Given the description of an element on the screen output the (x, y) to click on. 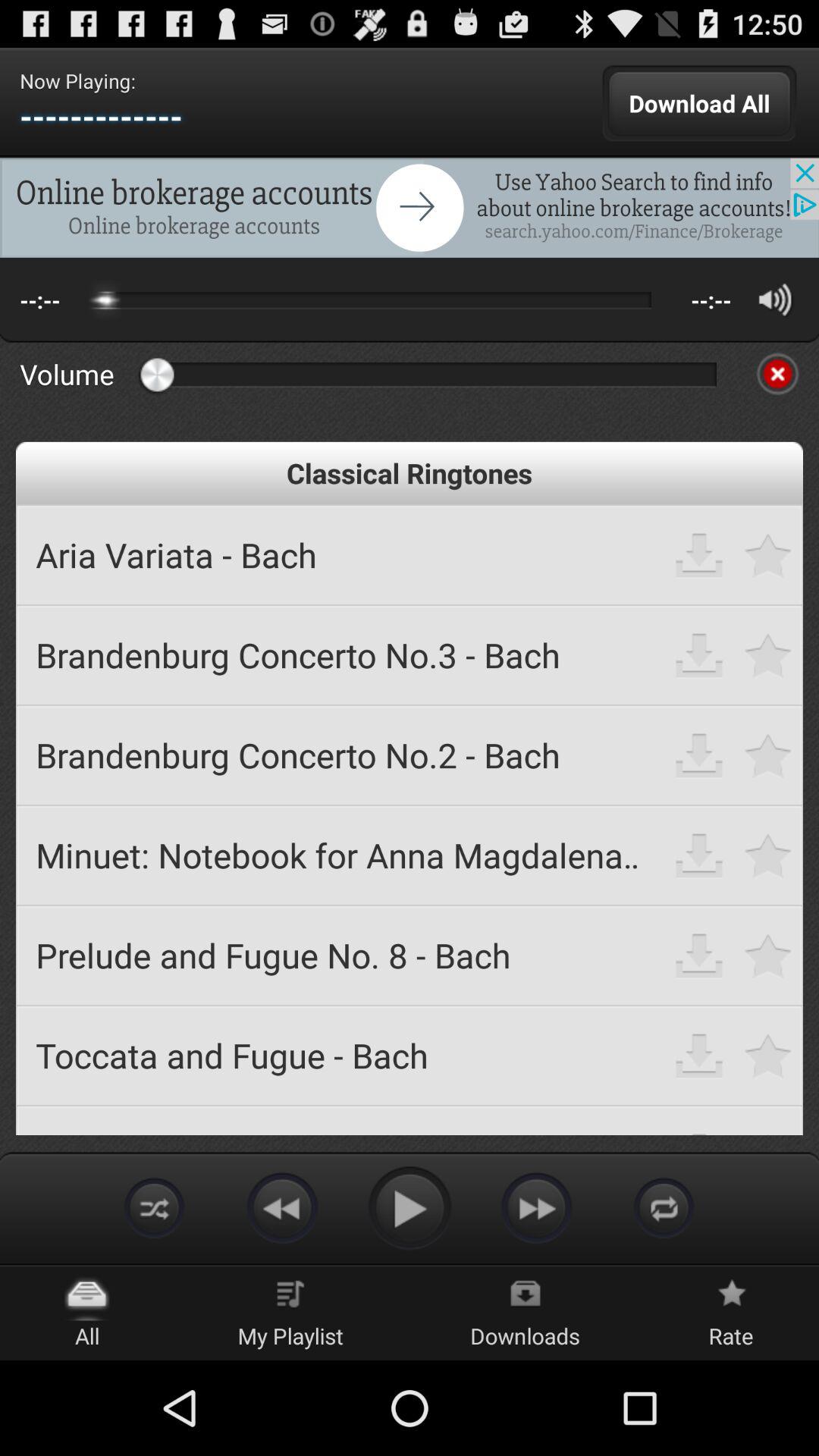
adjust volume (775, 299)
